Given the description of an element on the screen output the (x, y) to click on. 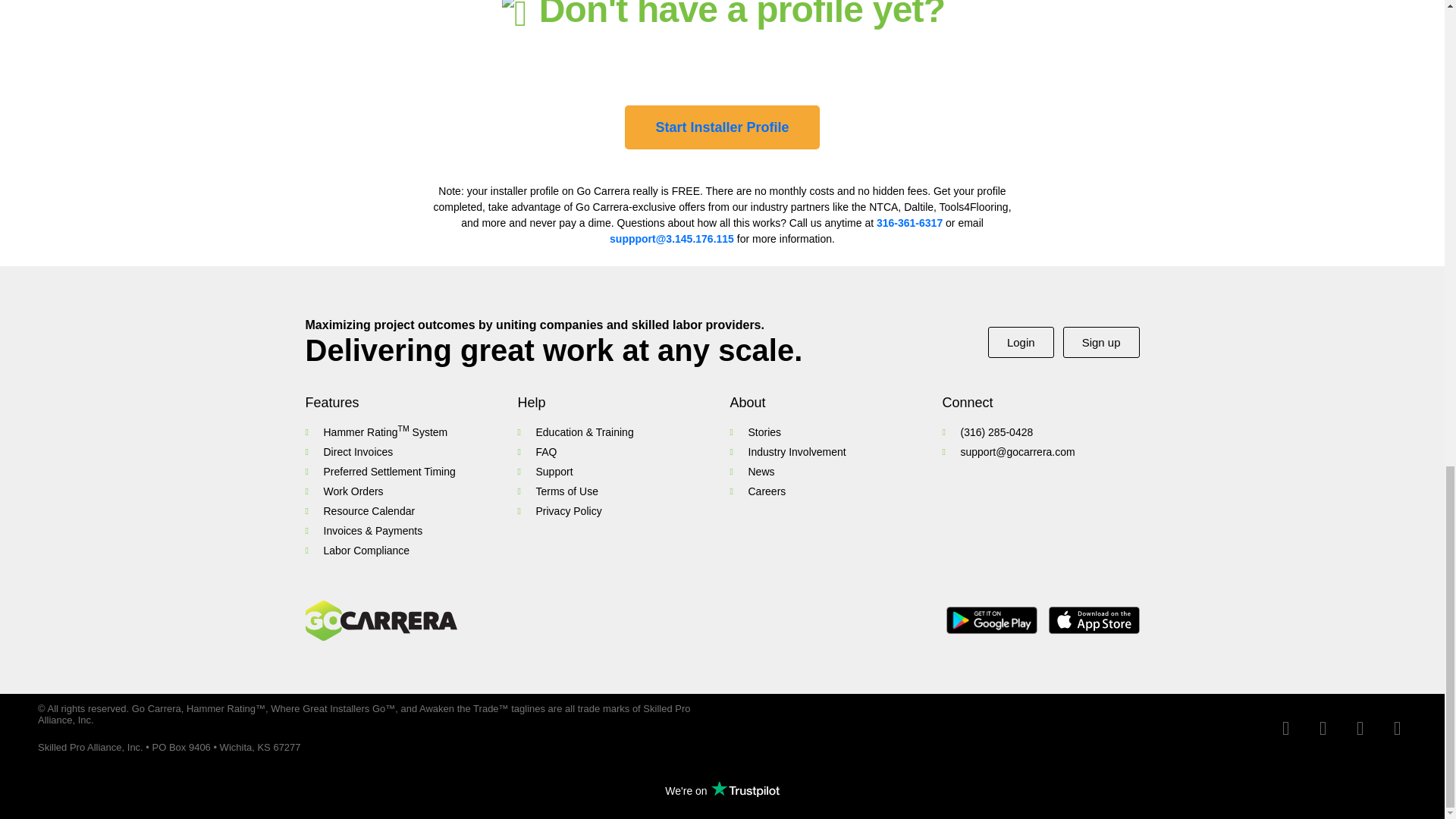
316-361-6317 (909, 223)
Start Installer Profile (721, 127)
Customer reviews powered by Trustpilot (721, 791)
